Given the description of an element on the screen output the (x, y) to click on. 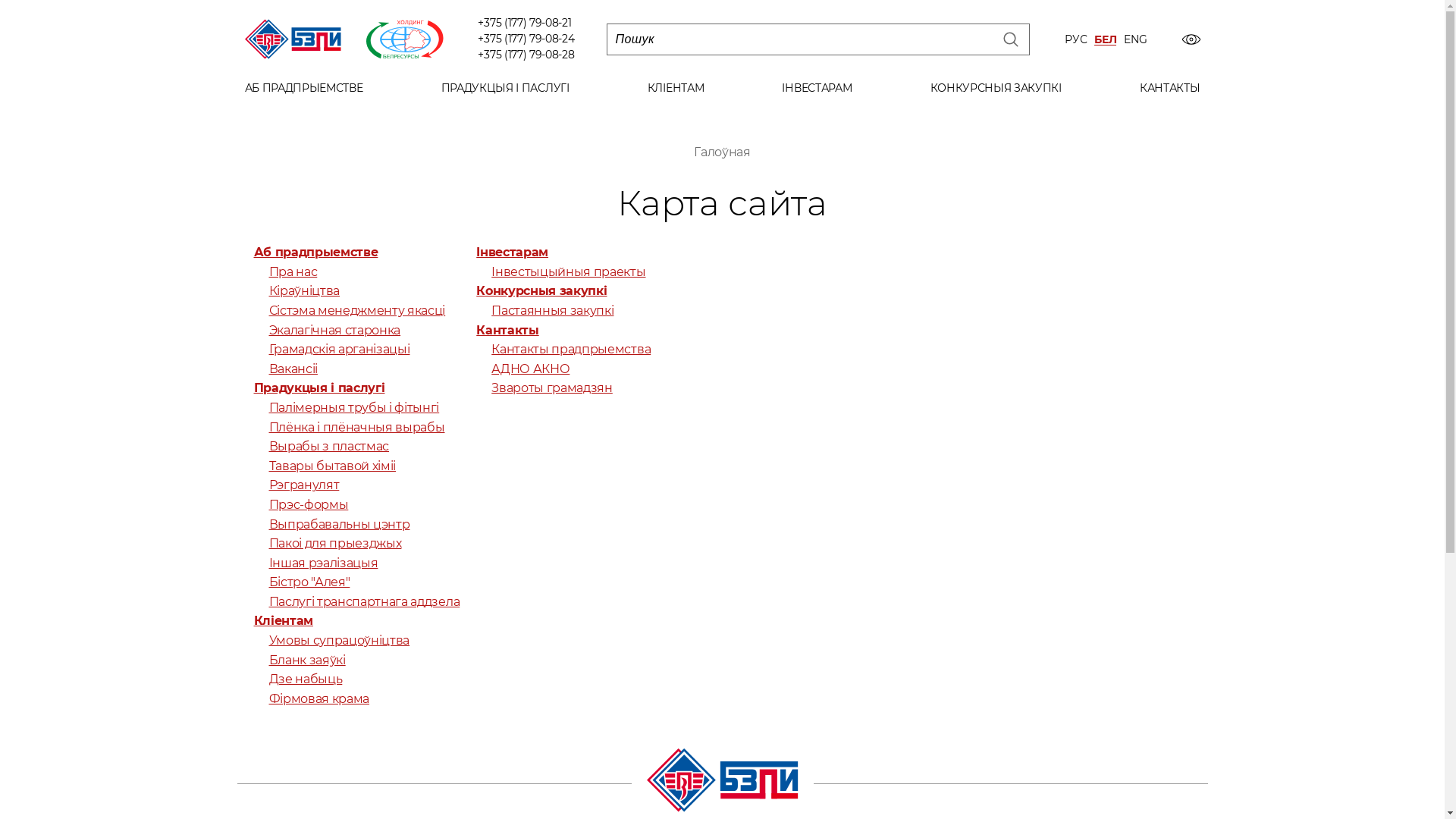
+375 (177) 79-08-24 Element type: text (525, 39)
+375 (177) 79-08-21 Element type: text (524, 23)
+375 (177) 79-08-28 Element type: text (525, 54)
ENG Element type: text (1134, 39)
